Given the description of an element on the screen output the (x, y) to click on. 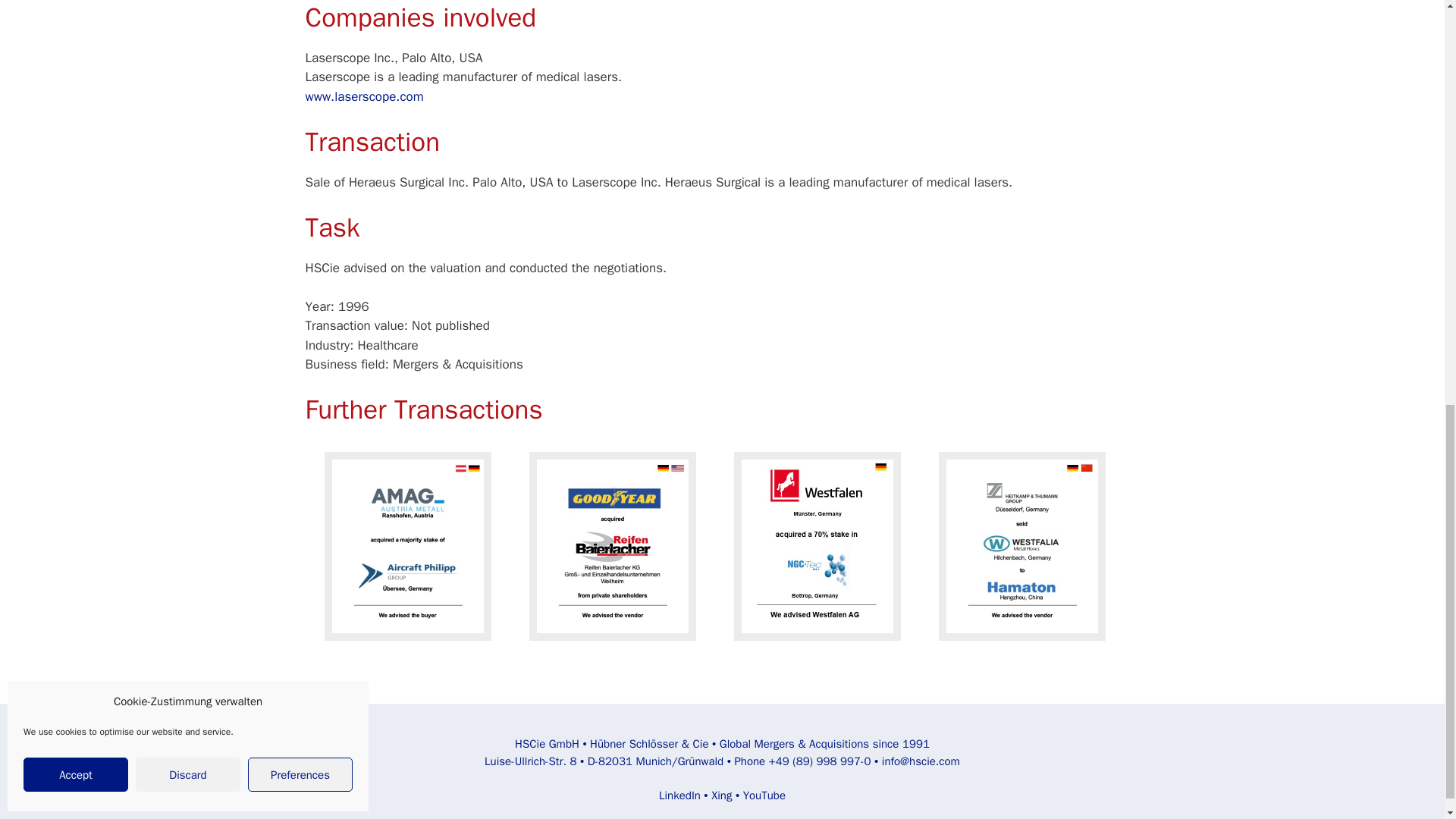
Scroll back to top (1406, 720)
www.laserscope.com (363, 96)
Luise-Ullrich-Str. 8 (530, 761)
